Given the description of an element on the screen output the (x, y) to click on. 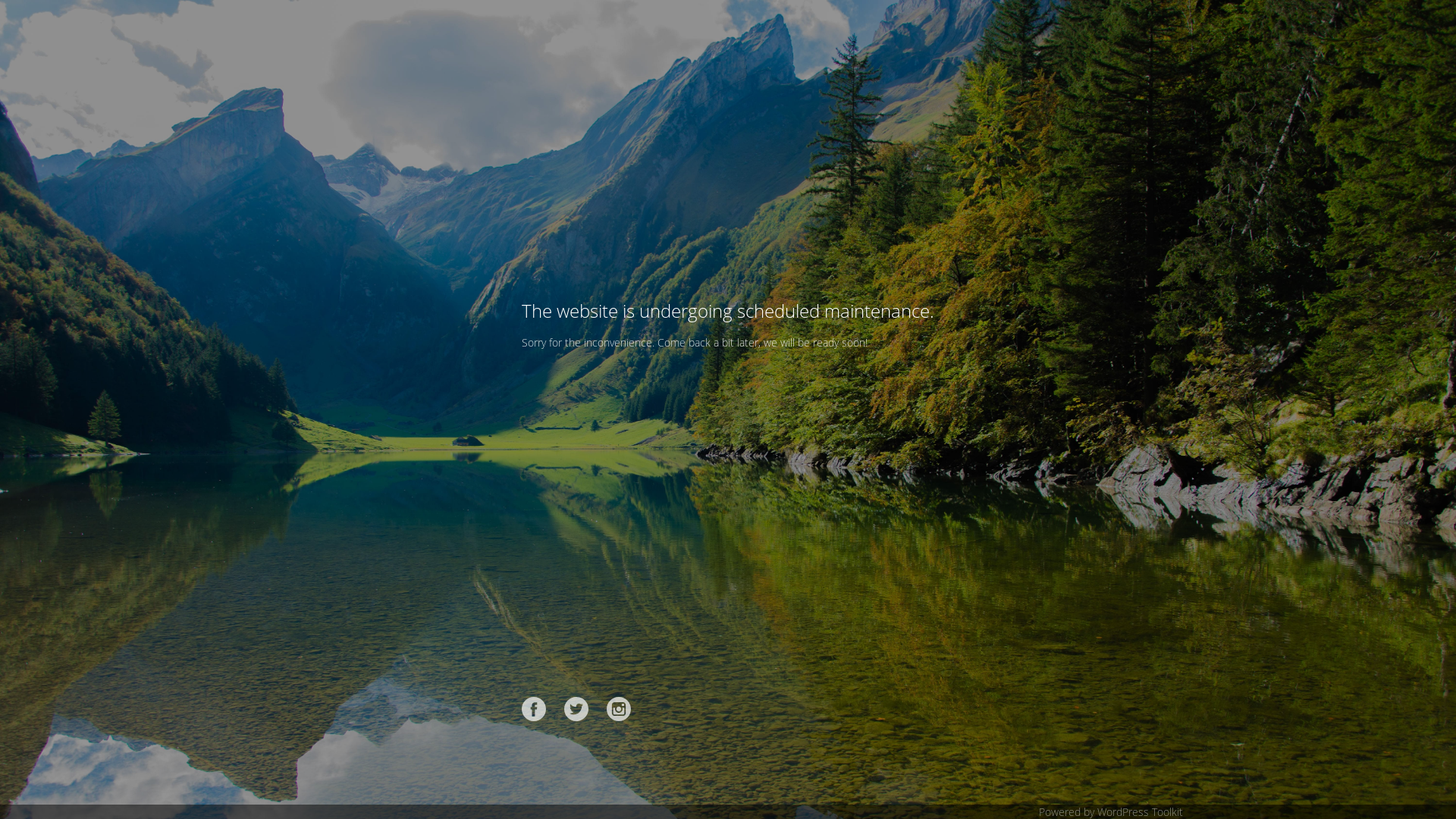
Facebook Element type: hover (533, 708)
Twitter Element type: hover (576, 708)
Instagram Element type: hover (618, 708)
